Given the description of an element on the screen output the (x, y) to click on. 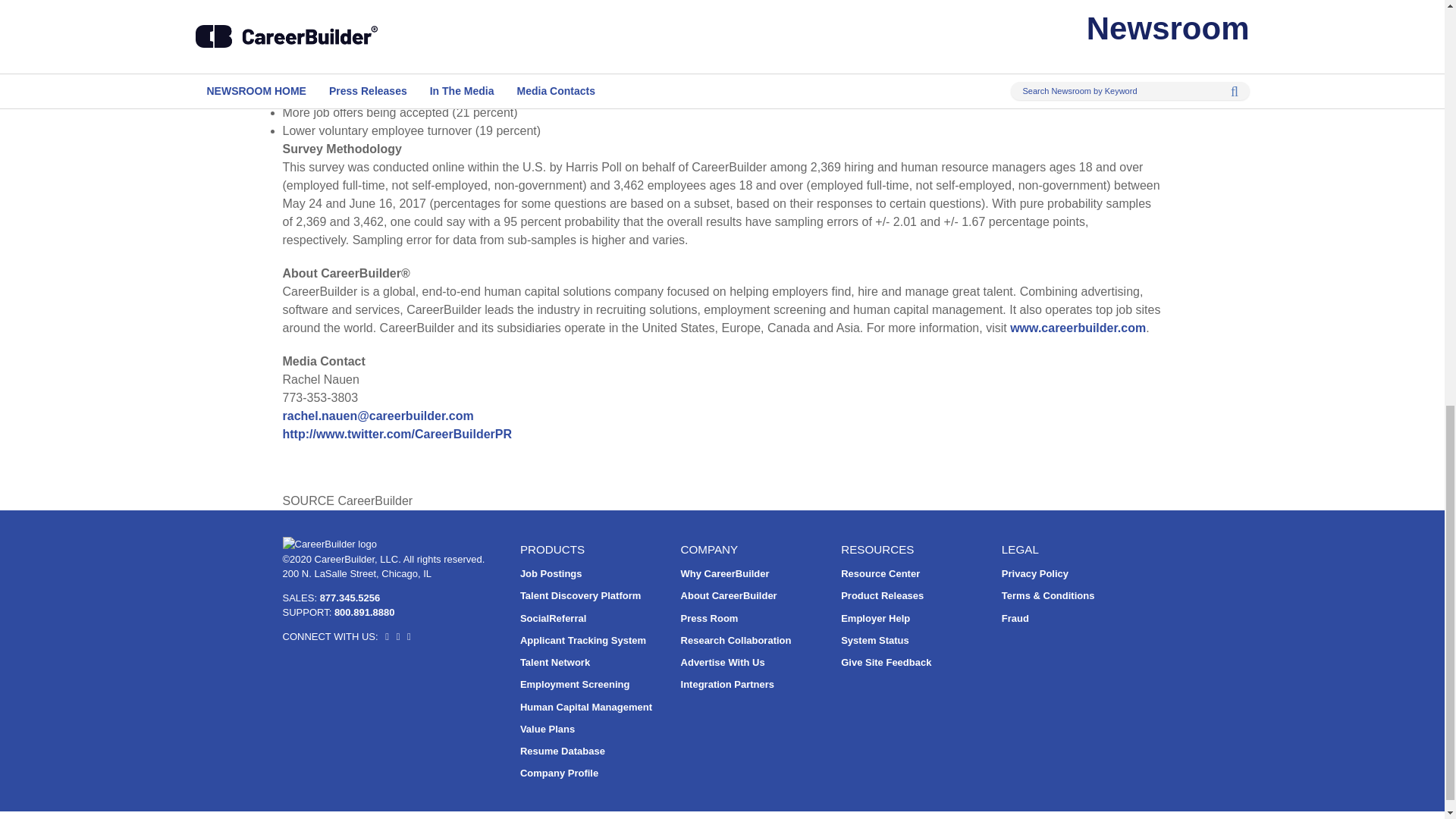
Talent Network (554, 662)
Human Capital Management (585, 706)
877.345.5256 (350, 596)
SocialReferral (552, 618)
Employment Screening (573, 684)
Resume Database (562, 750)
Value Plans (547, 728)
800.891.8880 (364, 612)
Job Postings (550, 573)
Talent Discovery Platform (579, 595)
